Given the description of an element on the screen output the (x, y) to click on. 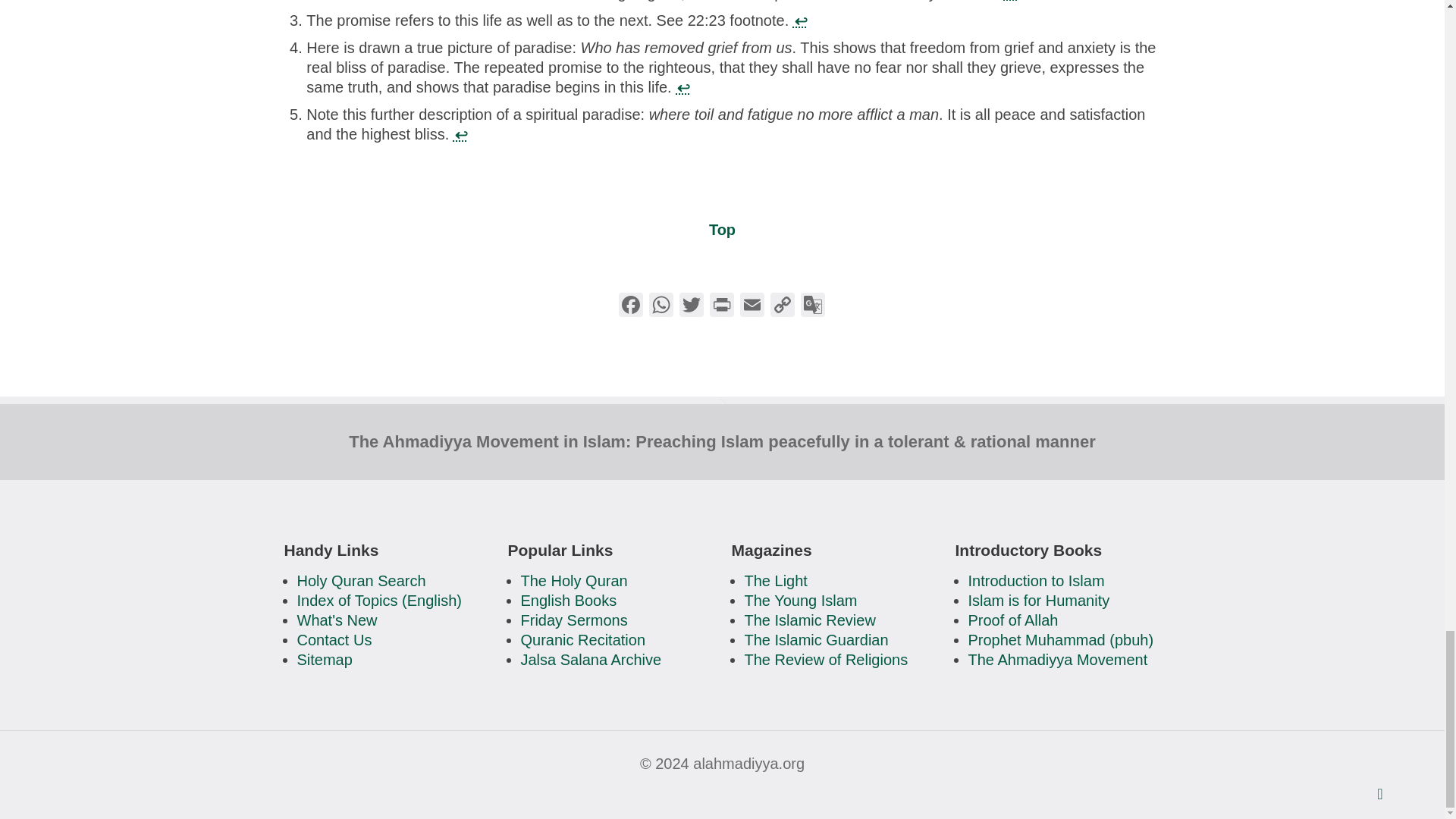
Facebook (630, 306)
WhatsApp (661, 306)
